Given the description of an element on the screen output the (x, y) to click on. 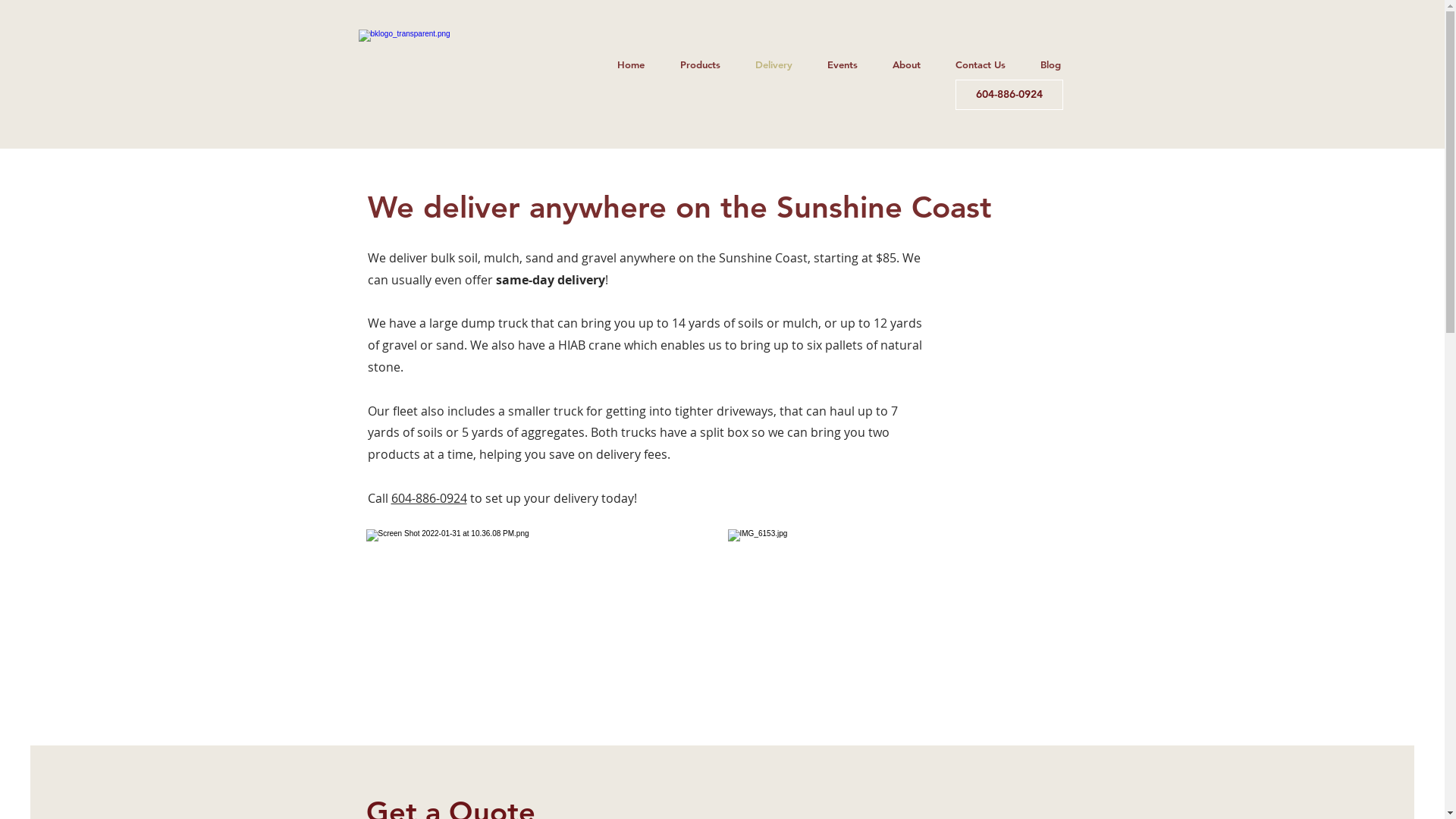
Delivery Element type: text (773, 64)
Contact Us Element type: text (979, 64)
Products Element type: text (699, 64)
B&K TRANS.png Element type: hover (439, 75)
Blog Element type: text (1049, 64)
About Element type: text (906, 64)
604-886-0924 Element type: text (429, 497)
604-886-0924 Element type: text (1009, 94)
Events Element type: text (842, 64)
Home Element type: text (630, 64)
